Given the description of an element on the screen output the (x, y) to click on. 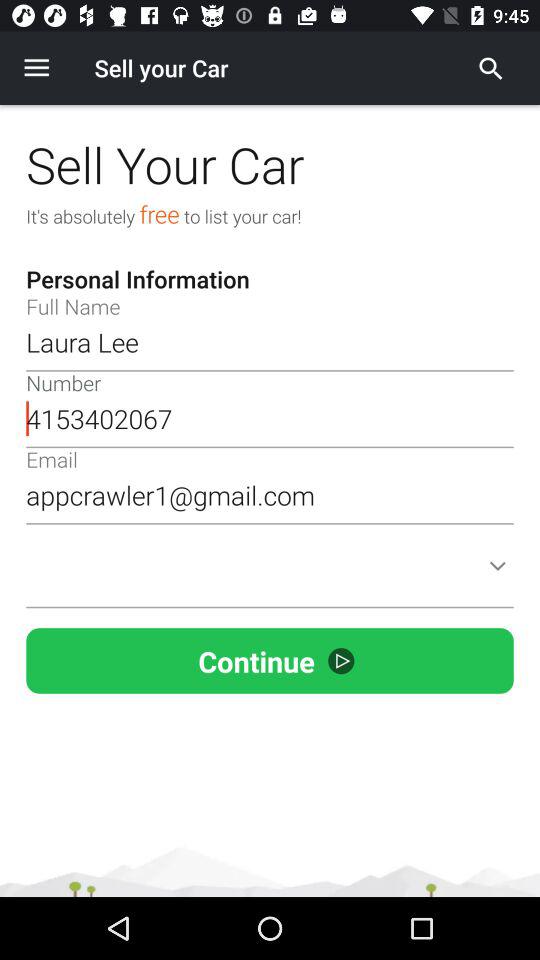
click item next to the sell your car item (491, 68)
